Given the description of an element on the screen output the (x, y) to click on. 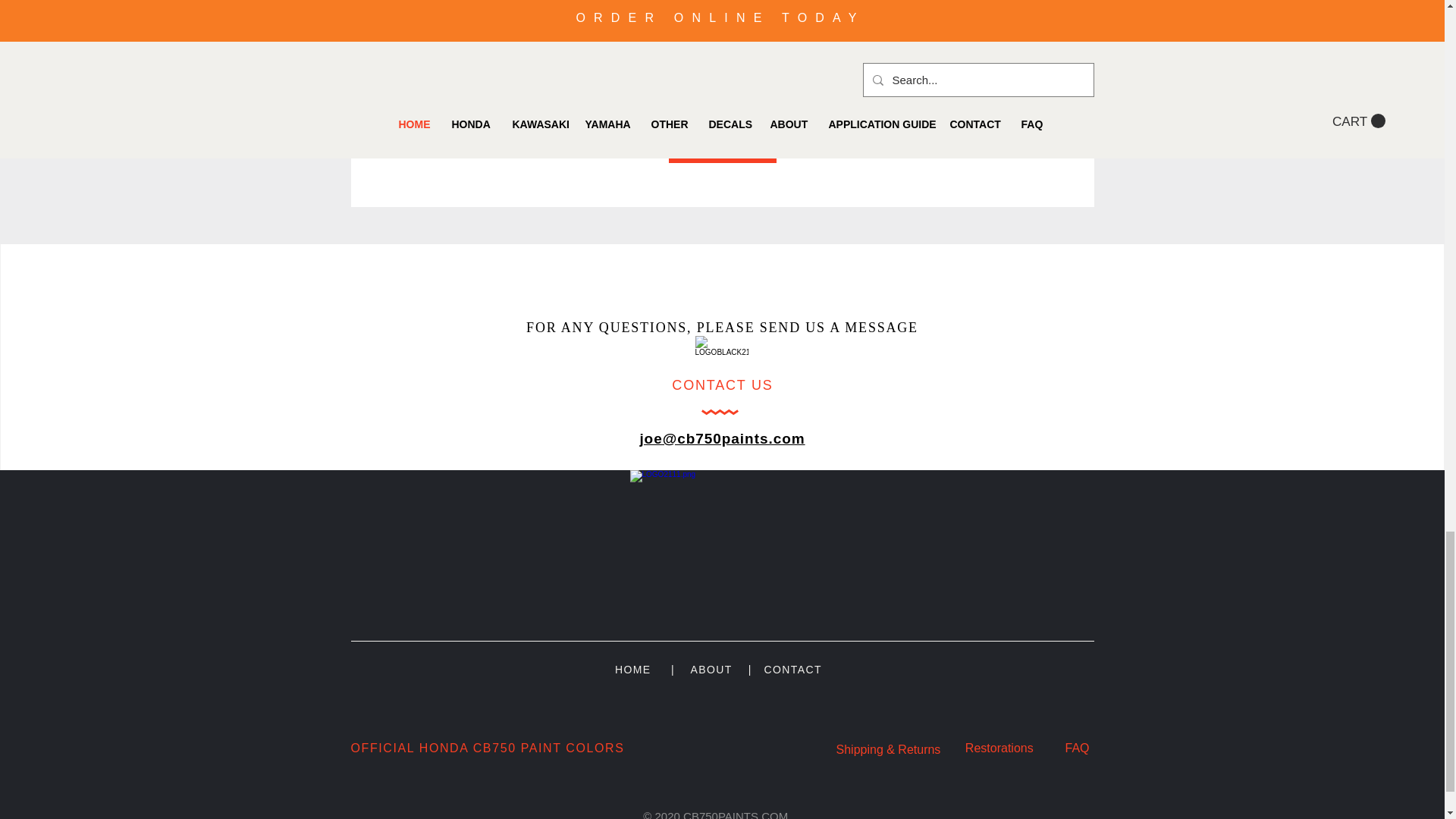
ABOUT (711, 669)
Shop Now (722, 147)
Restorations  (1000, 748)
FAQ (1076, 748)
HOME (632, 669)
